Given the description of an element on the screen output the (x, y) to click on. 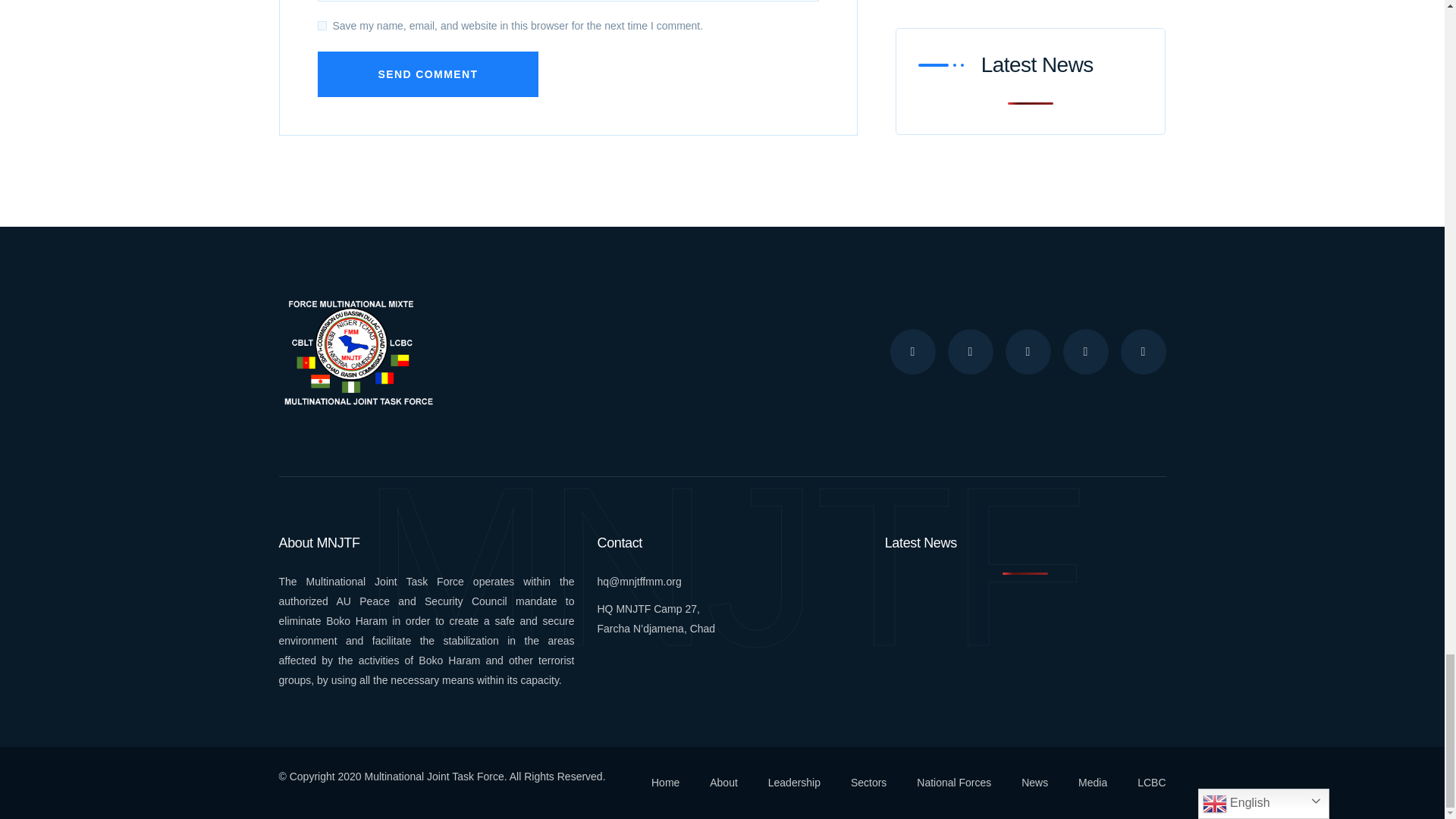
Send Comment (427, 74)
Address (656, 618)
Multinational Joint Task Force (356, 350)
Email (638, 581)
Send Comment (427, 74)
